Given the description of an element on the screen output the (x, y) to click on. 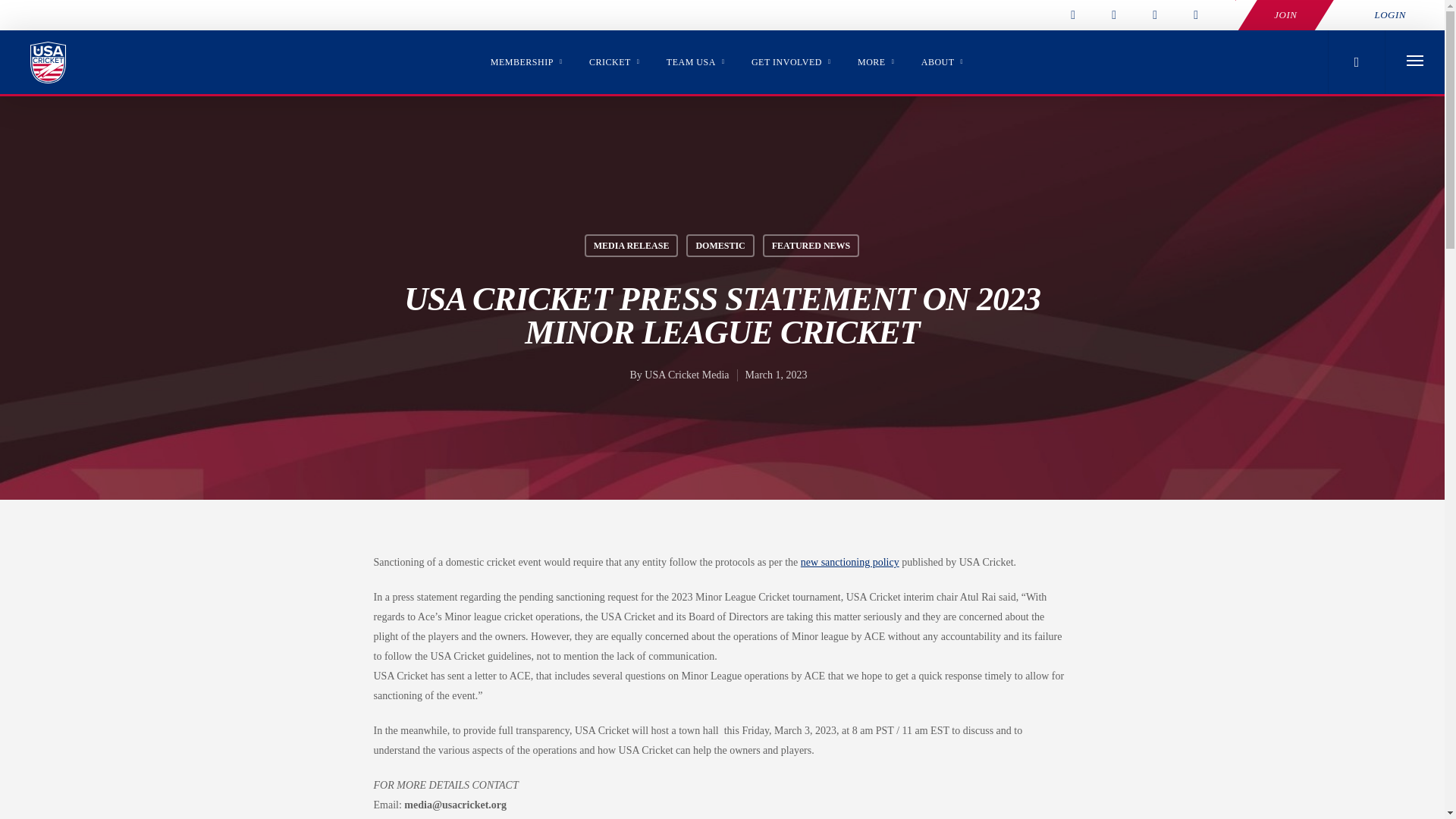
TEAM USA (695, 67)
Posts by USA Cricket Media (687, 374)
MORE (875, 67)
CRICKET (614, 67)
JOIN (1285, 15)
GET INVOLVED (791, 67)
MEMBERSHIP (526, 67)
LOGIN (1390, 15)
